Given the description of an element on the screen output the (x, y) to click on. 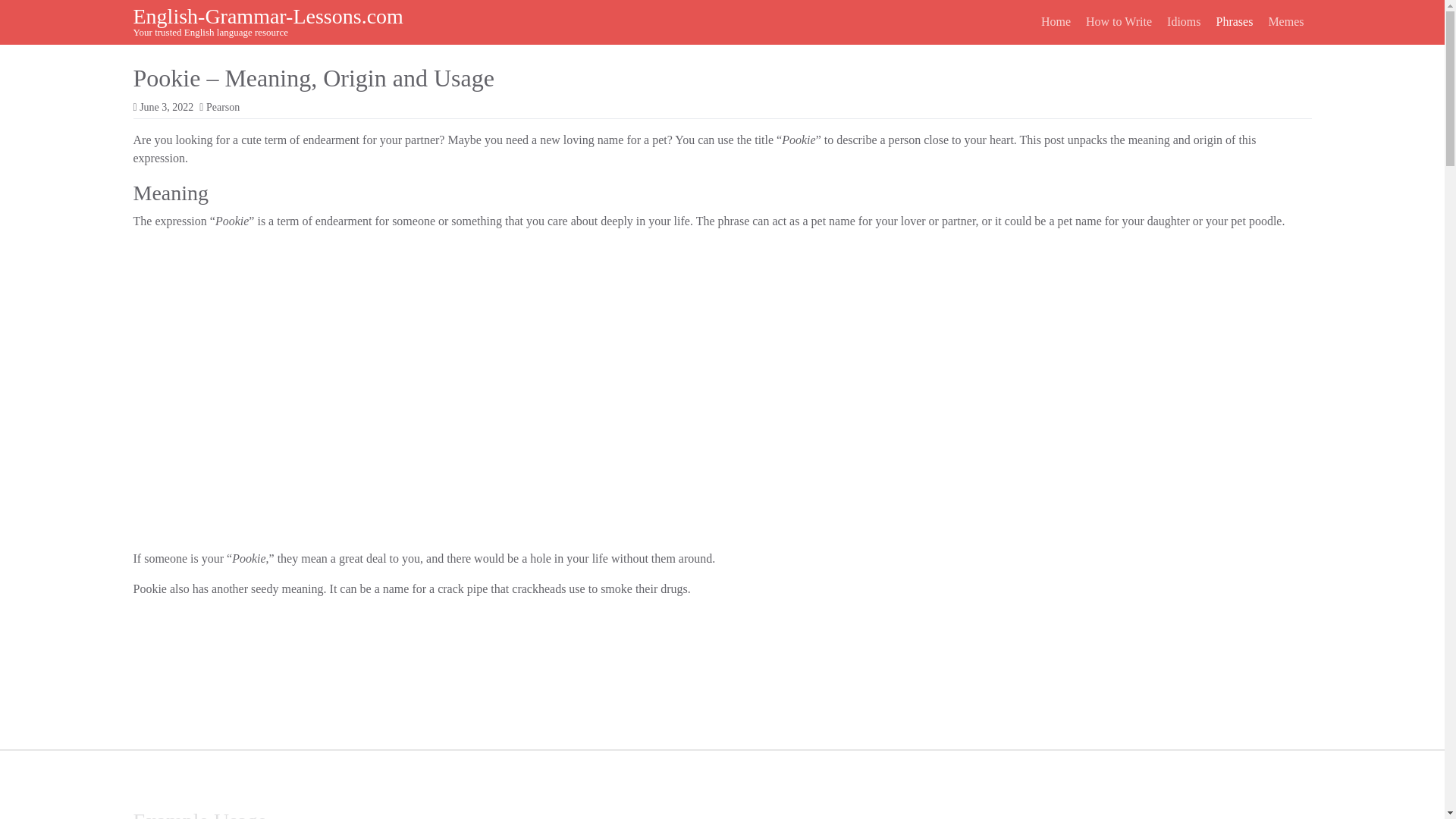
Phrases (1234, 22)
English-Grammar-Lessons.com (268, 15)
Phrases (1234, 22)
Home (1055, 22)
Pearson (223, 107)
How to Write (1118, 22)
Idioms (1183, 22)
June 3, 2022 (166, 107)
How to Write (1118, 22)
English-Grammar-Lessons.com (268, 15)
